Given the description of an element on the screen output the (x, y) to click on. 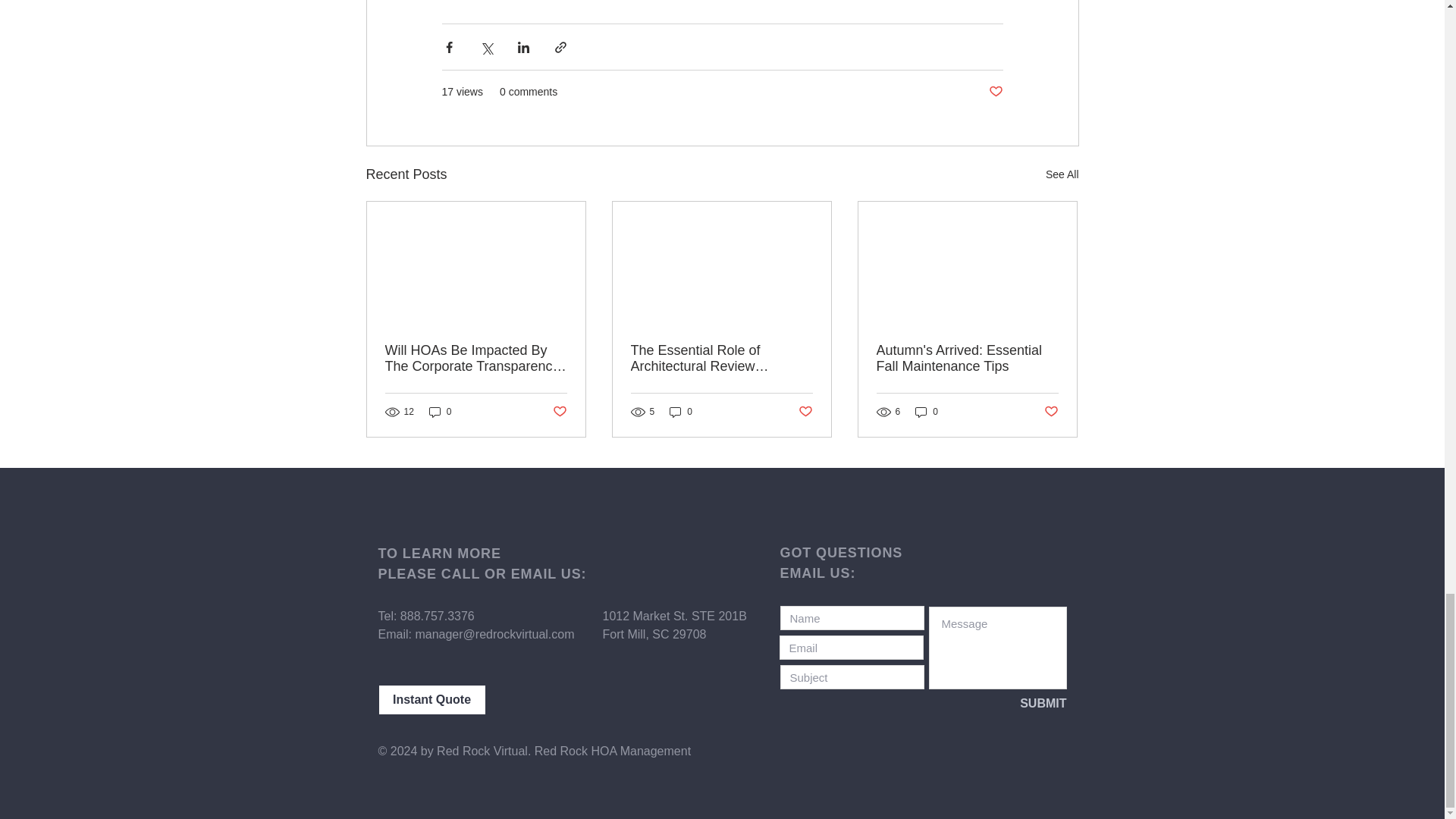
SUBMIT (1016, 703)
Post not marked as liked (804, 411)
Post not marked as liked (1050, 411)
0 (440, 411)
Post not marked as liked (558, 411)
Autumn's Arrived: Essential Fall Maintenance Tips (967, 358)
See All (1061, 174)
0 (681, 411)
Instant Quote (430, 699)
0 (926, 411)
